Given the description of an element on the screen output the (x, y) to click on. 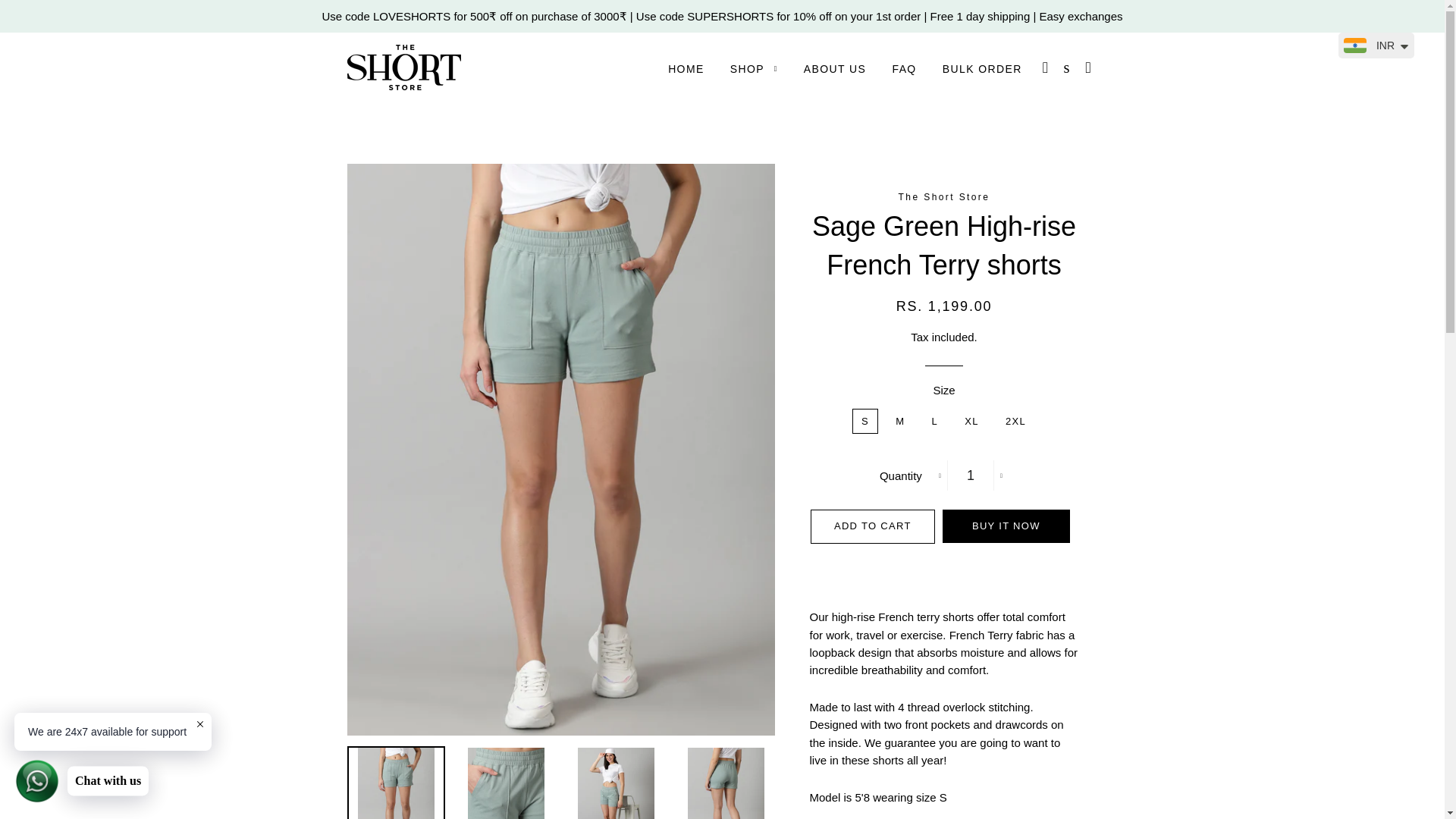
SHOP (754, 69)
1 (971, 475)
HOME (686, 69)
